Given the description of an element on the screen output the (x, y) to click on. 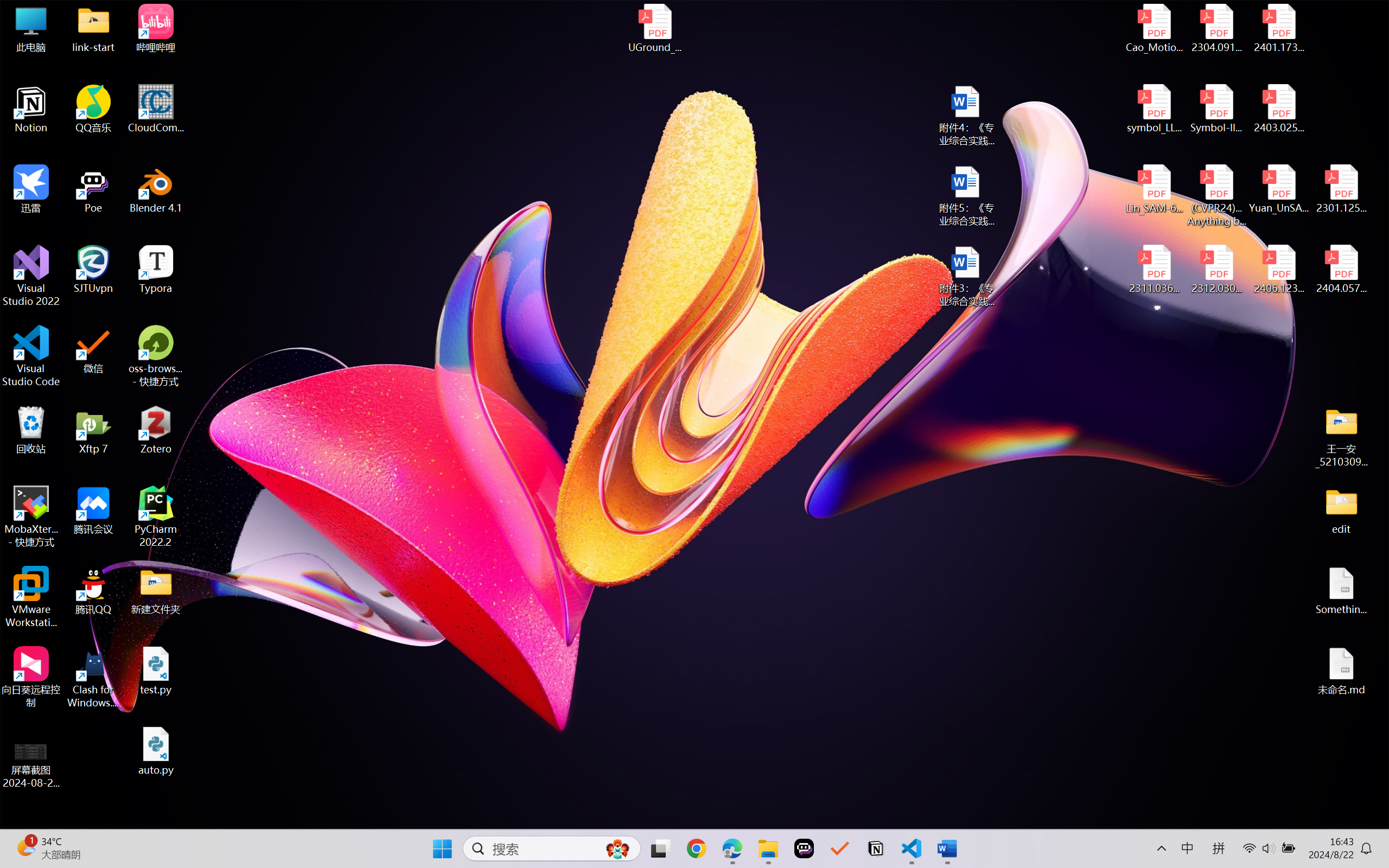
VMware Workstation Pro (31, 597)
Something.md (1340, 591)
Visual Studio 2022 (31, 276)
edit (1340, 510)
